Given the description of an element on the screen output the (x, y) to click on. 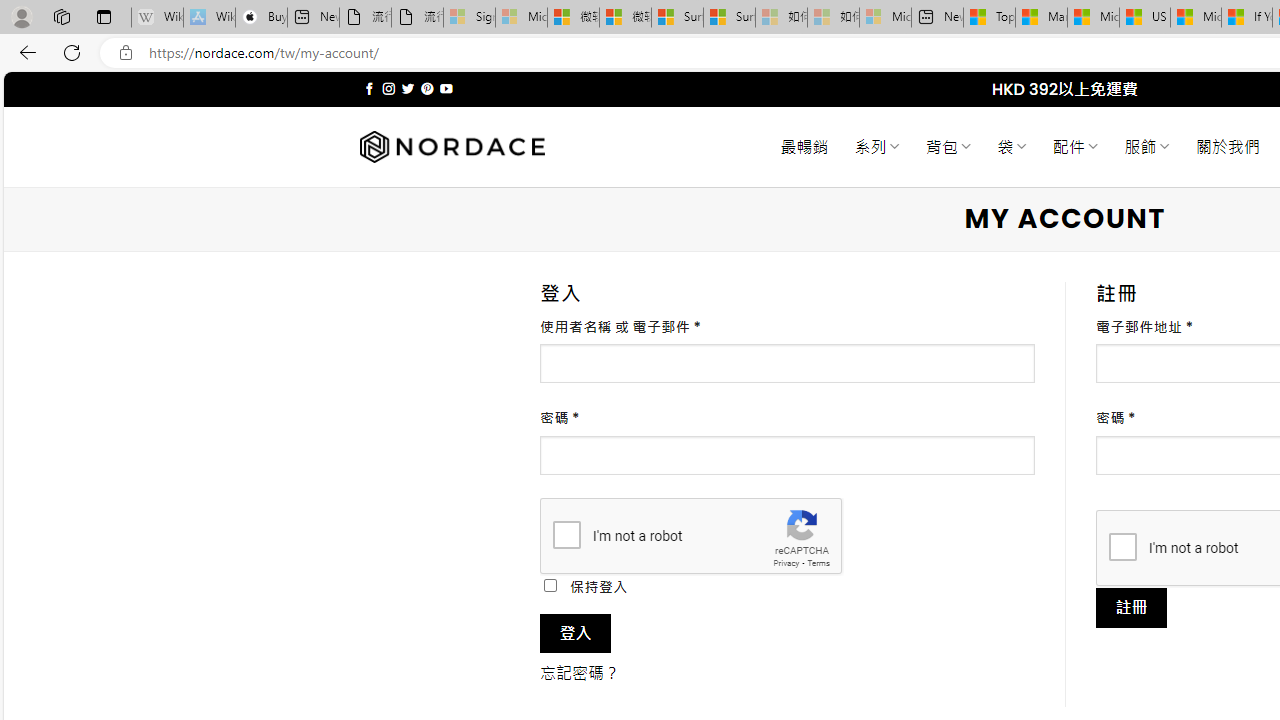
I'm not a robot (1122, 546)
